Given the description of an element on the screen output the (x, y) to click on. 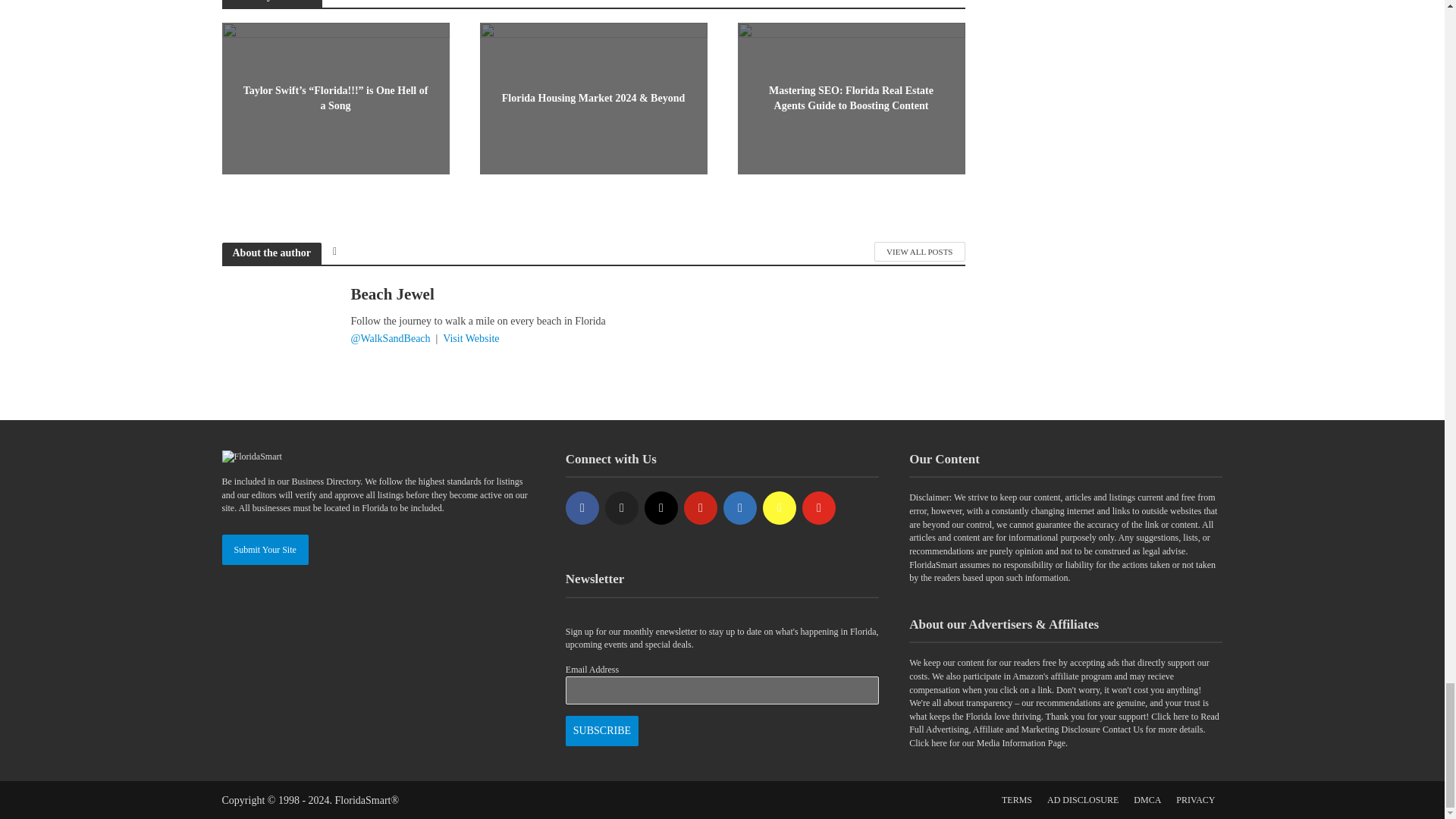
Pinterest (700, 507)
Snapchat (779, 507)
Facebook (582, 507)
Linkedin (740, 507)
Instagram (661, 507)
YouTube (818, 507)
Subscribe (602, 730)
